Given the description of an element on the screen output the (x, y) to click on. 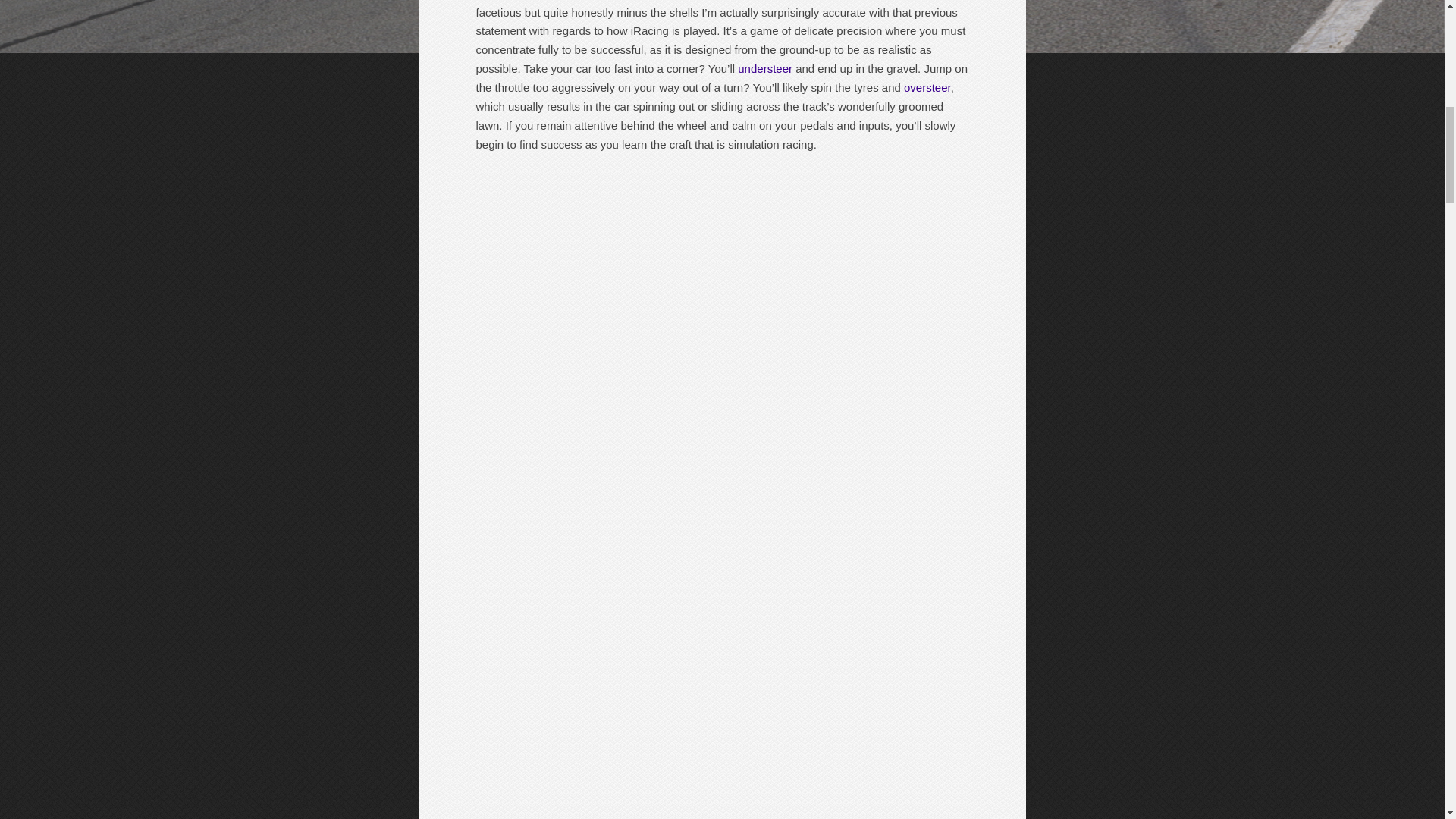
Oversteer and understeer wiki (927, 87)
Understeer and Oversteer wiki (765, 68)
